Given the description of an element on the screen output the (x, y) to click on. 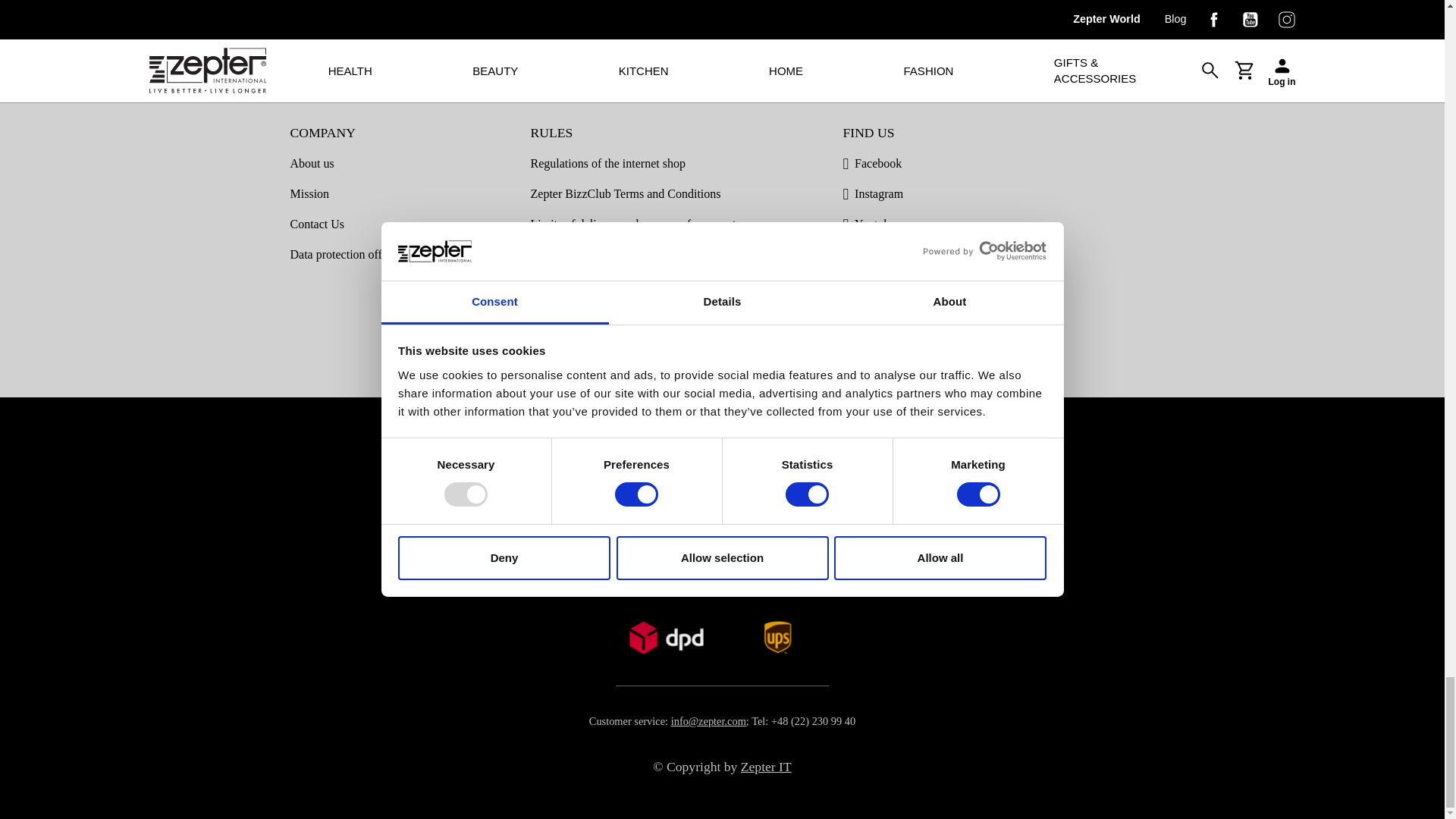
Visa master card (788, 502)
Visa master card (662, 502)
